Given the description of an element on the screen output the (x, y) to click on. 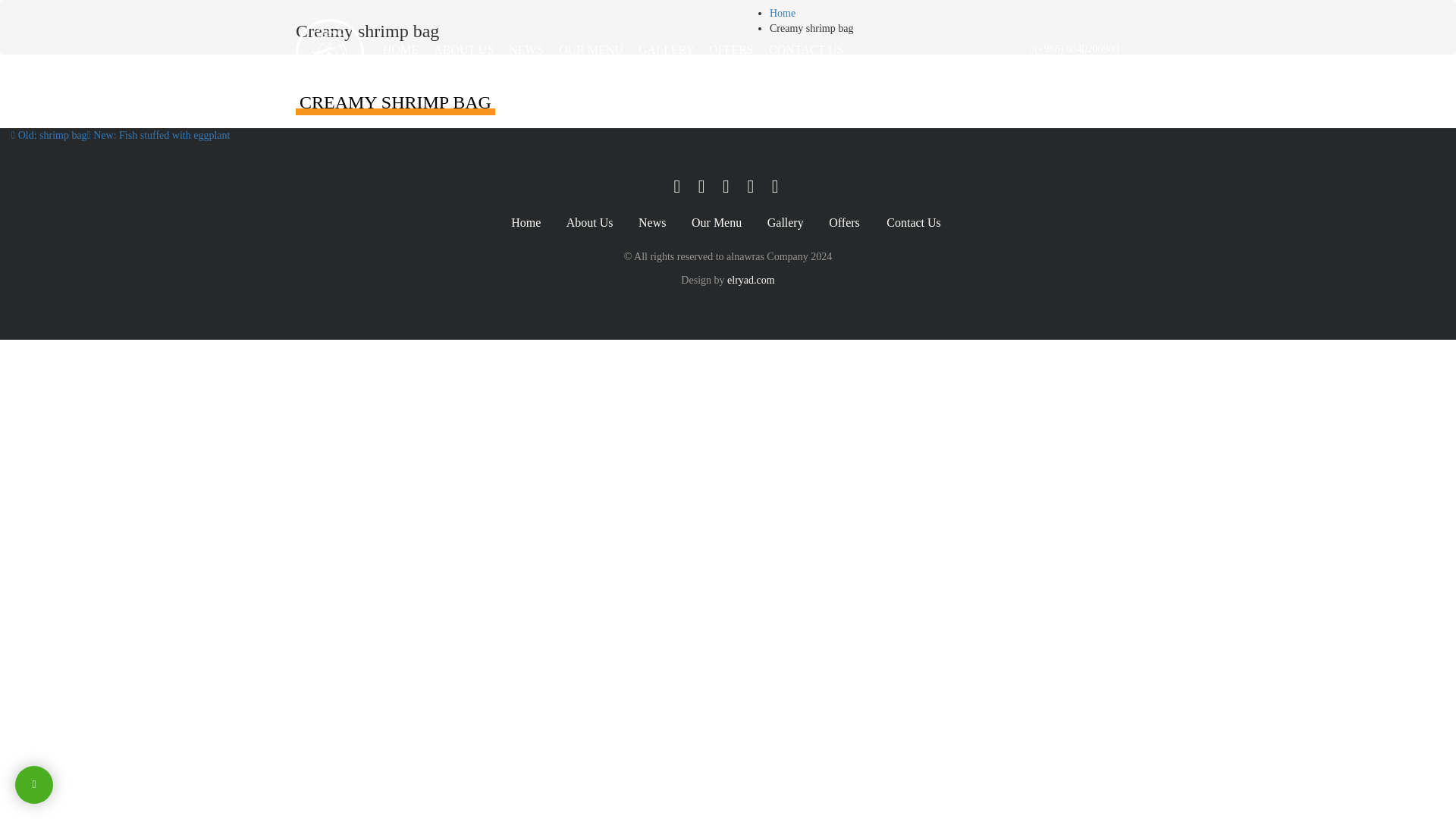
News (652, 222)
Home (525, 222)
NEWS (525, 49)
About us (589, 222)
Offers (844, 222)
Old: shrimp bag (49, 134)
OUR MENU (591, 49)
GALLERY (666, 49)
News (525, 49)
News (652, 222)
our menu (716, 222)
CONTACT US (806, 49)
HOME (400, 49)
elryad.com (750, 279)
our menu (591, 49)
